Given the description of an element on the screen output the (x, y) to click on. 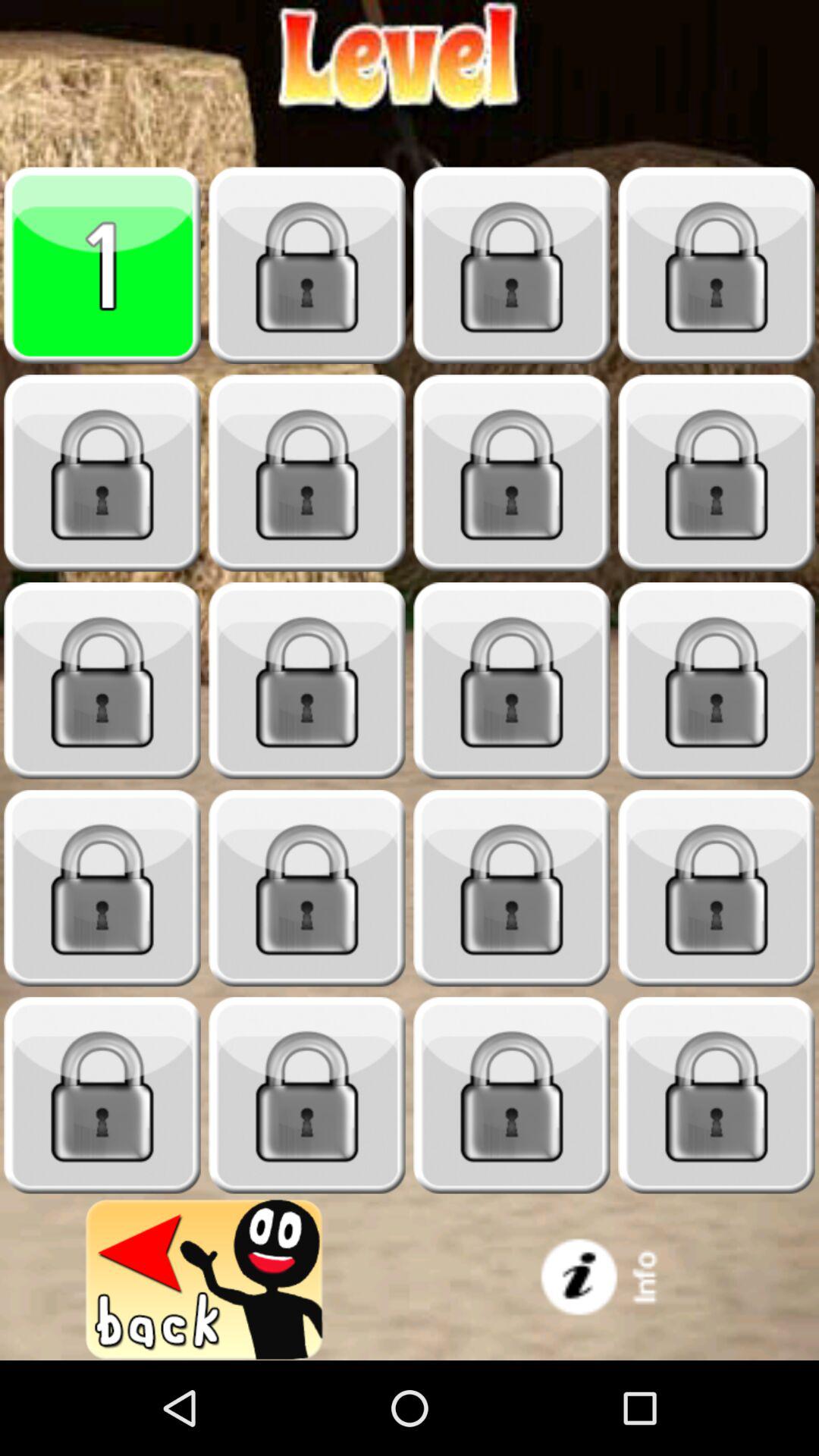
key pega (102, 680)
